Given the description of an element on the screen output the (x, y) to click on. 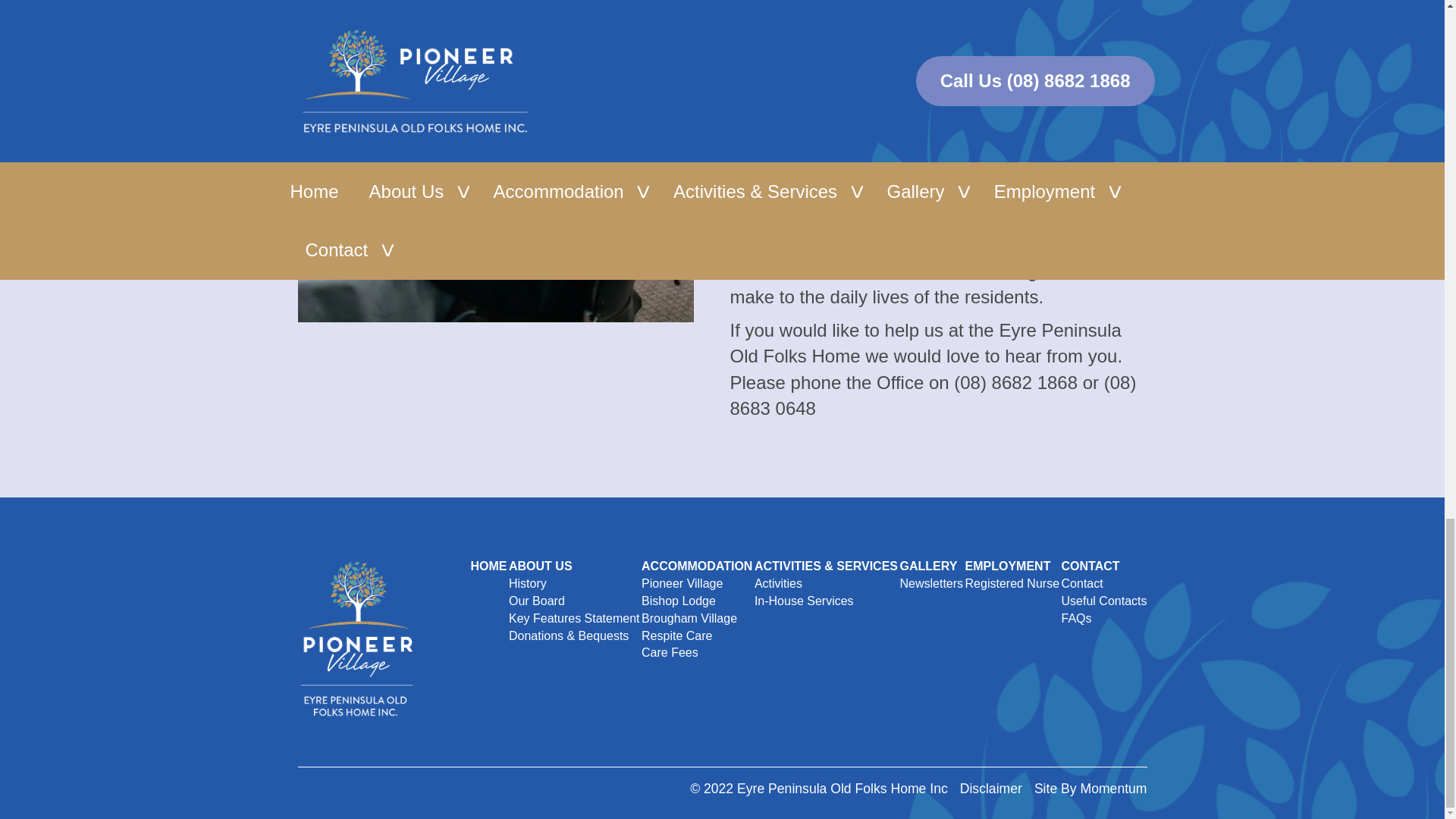
History (527, 583)
Care Fees (670, 652)
Respite Care (676, 635)
ABOUT US (540, 565)
Our Board (536, 600)
Bishop Lodge (679, 600)
Brougham Village (689, 617)
ACCOMMODATION (697, 565)
Key Features Statement (574, 617)
Pioneer Village (682, 583)
